Given the description of an element on the screen output the (x, y) to click on. 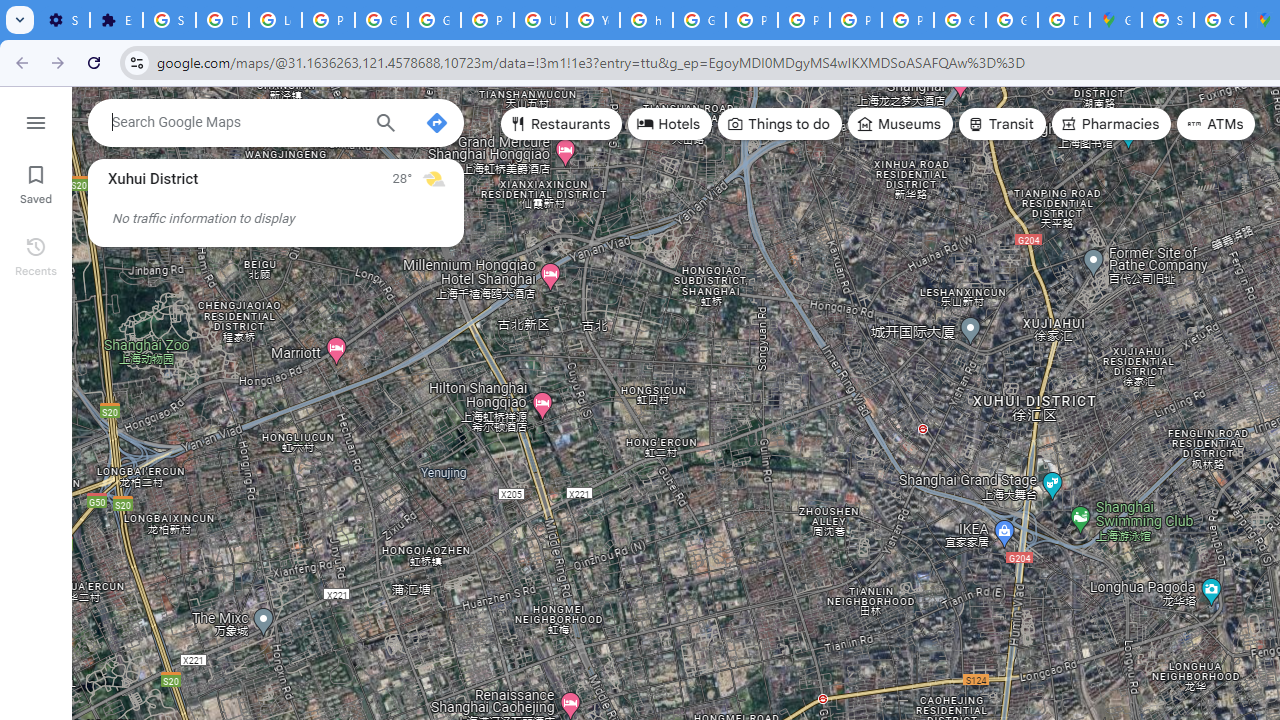
Saved (35, 182)
Mostly sunny (433, 178)
Google Maps (1115, 20)
Sign in - Google Accounts (169, 20)
YouTube (593, 20)
Extensions (116, 20)
https://scholar.google.com/ (646, 20)
Transit (1001, 124)
Search Google Maps (235, 121)
Menu (35, 120)
